Given the description of an element on the screen output the (x, y) to click on. 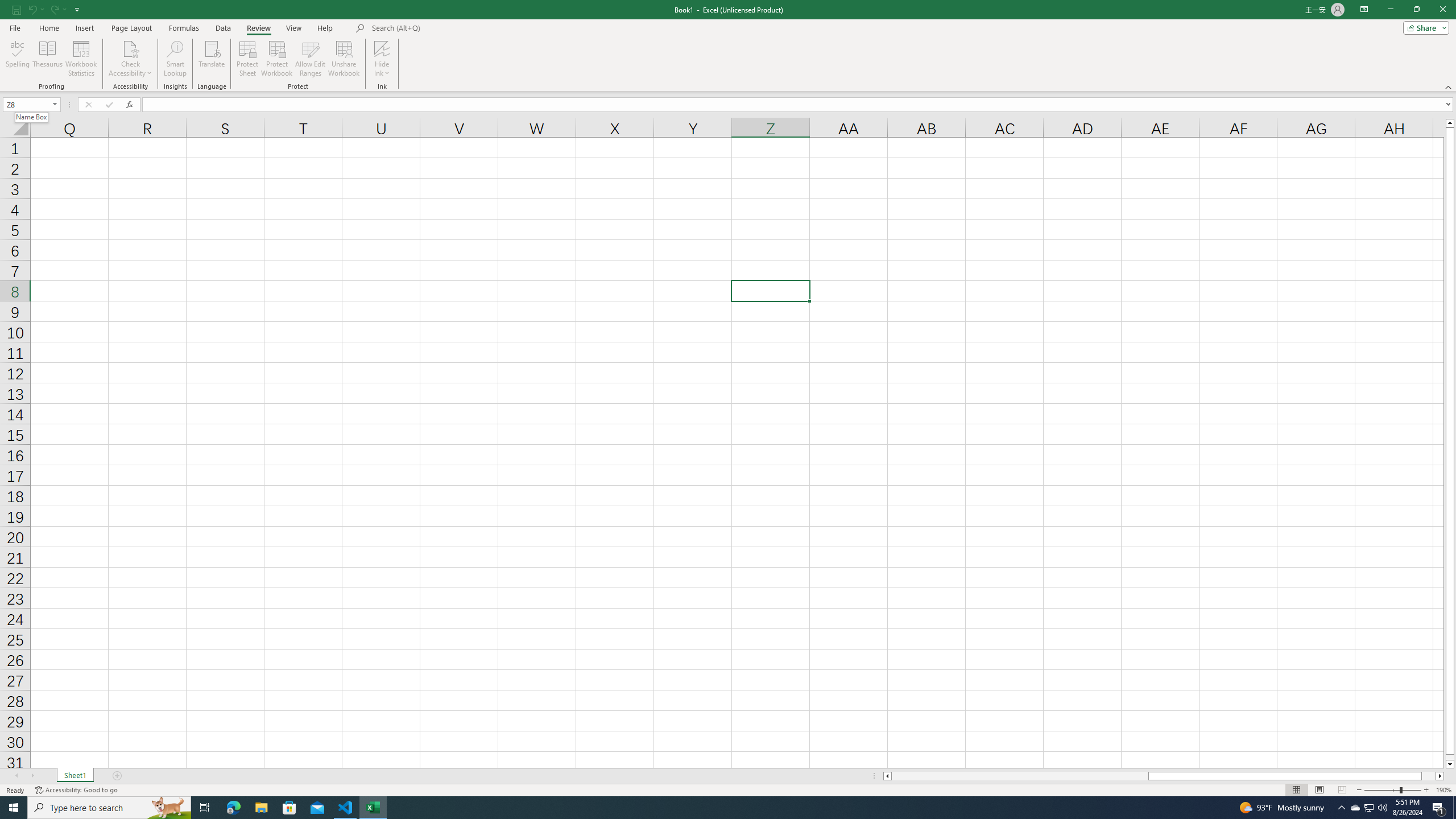
Translate (211, 58)
